Given the description of an element on the screen output the (x, y) to click on. 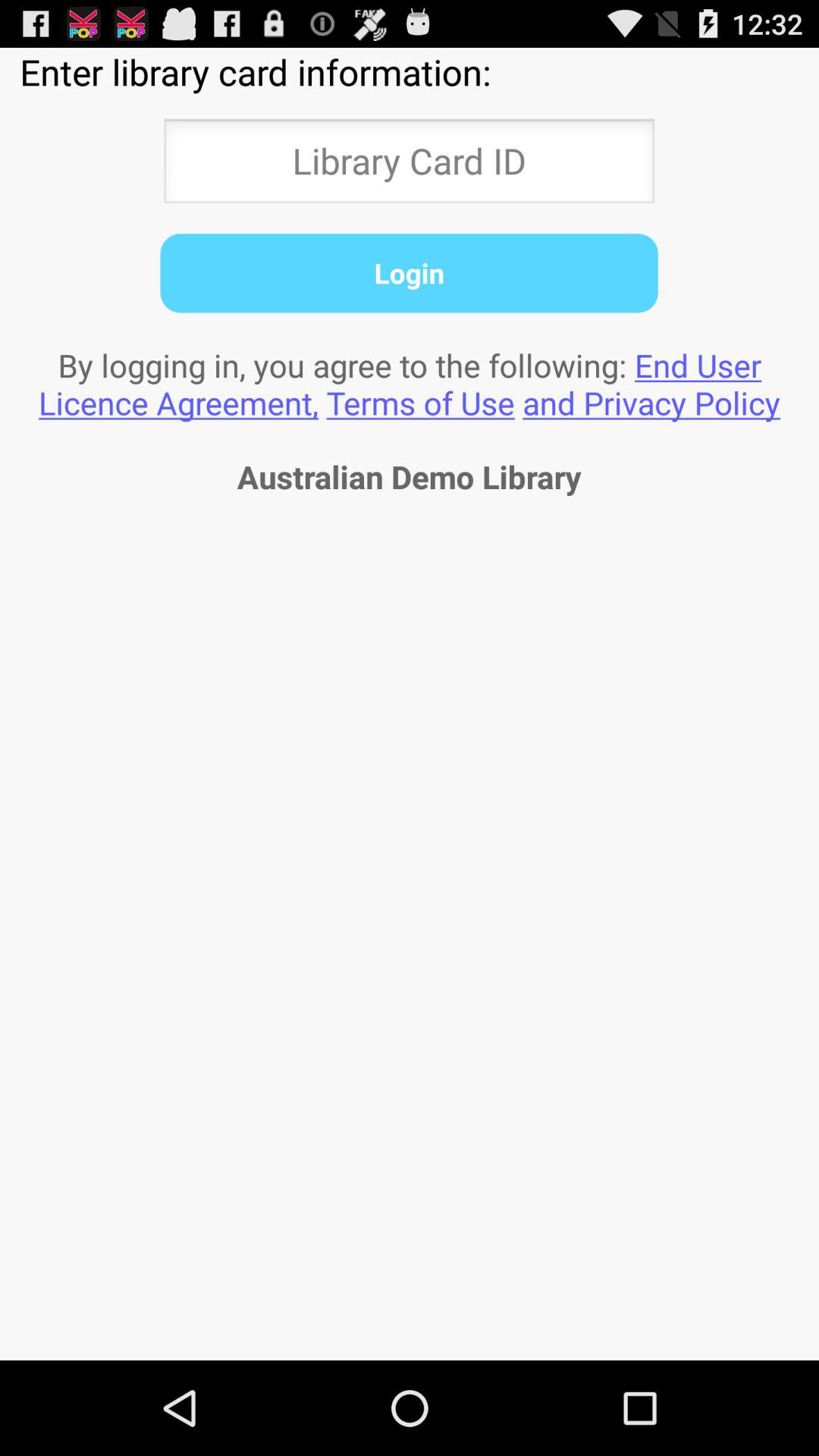
enter library card number (409, 165)
